Given the description of an element on the screen output the (x, y) to click on. 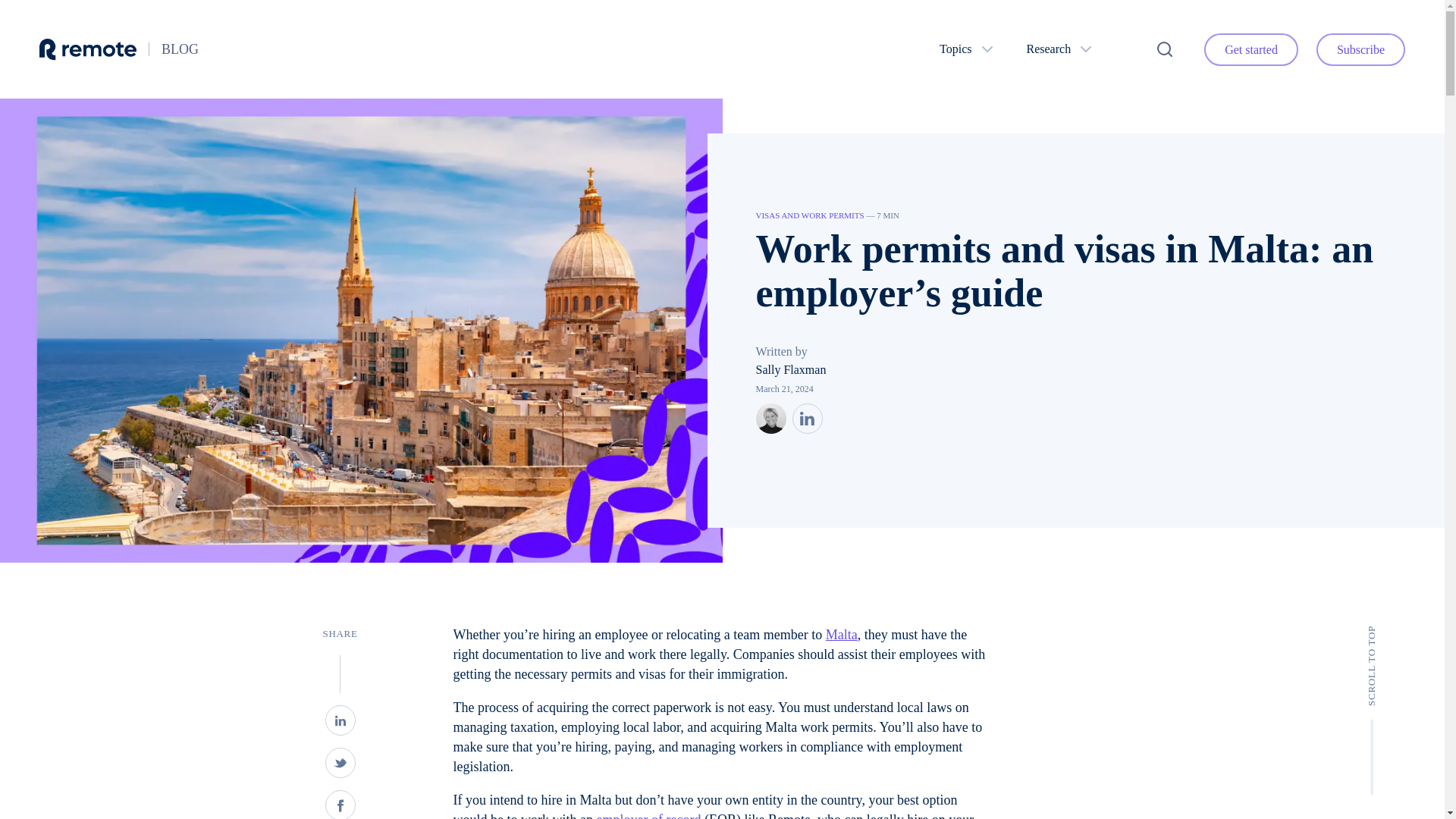
BLOG (179, 48)
Visit Remote website (87, 48)
Visit blog homepage (179, 48)
Sally Flaxman (790, 369)
Subscribe (1360, 49)
VISAS AND WORK PERMITS (809, 215)
Get started (1251, 49)
